Given the description of an element on the screen output the (x, y) to click on. 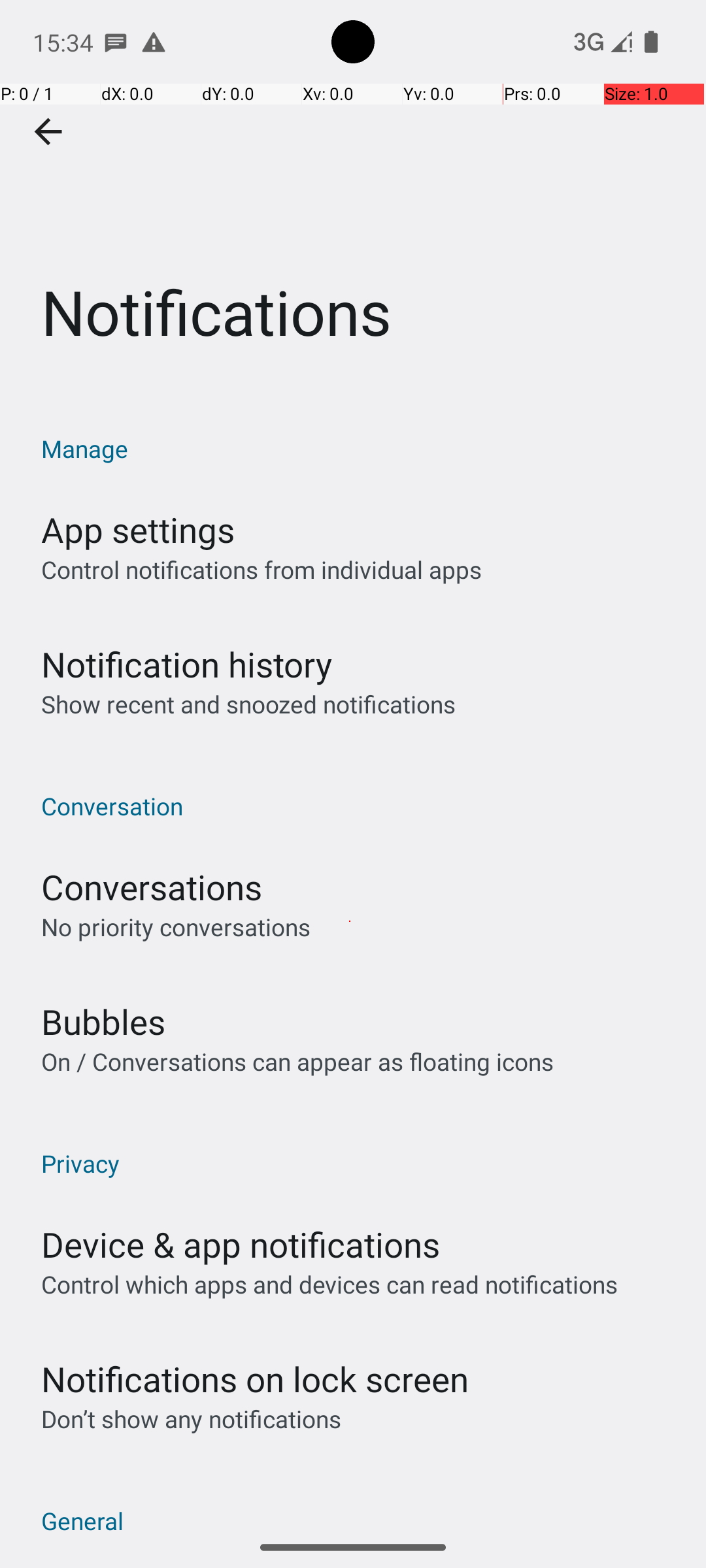
On / Conversations can appear as floating icons Element type: android.widget.TextView (297, 1061)
Don’t show any notifications Element type: android.widget.TextView (191, 1418)
